Given the description of an element on the screen output the (x, y) to click on. 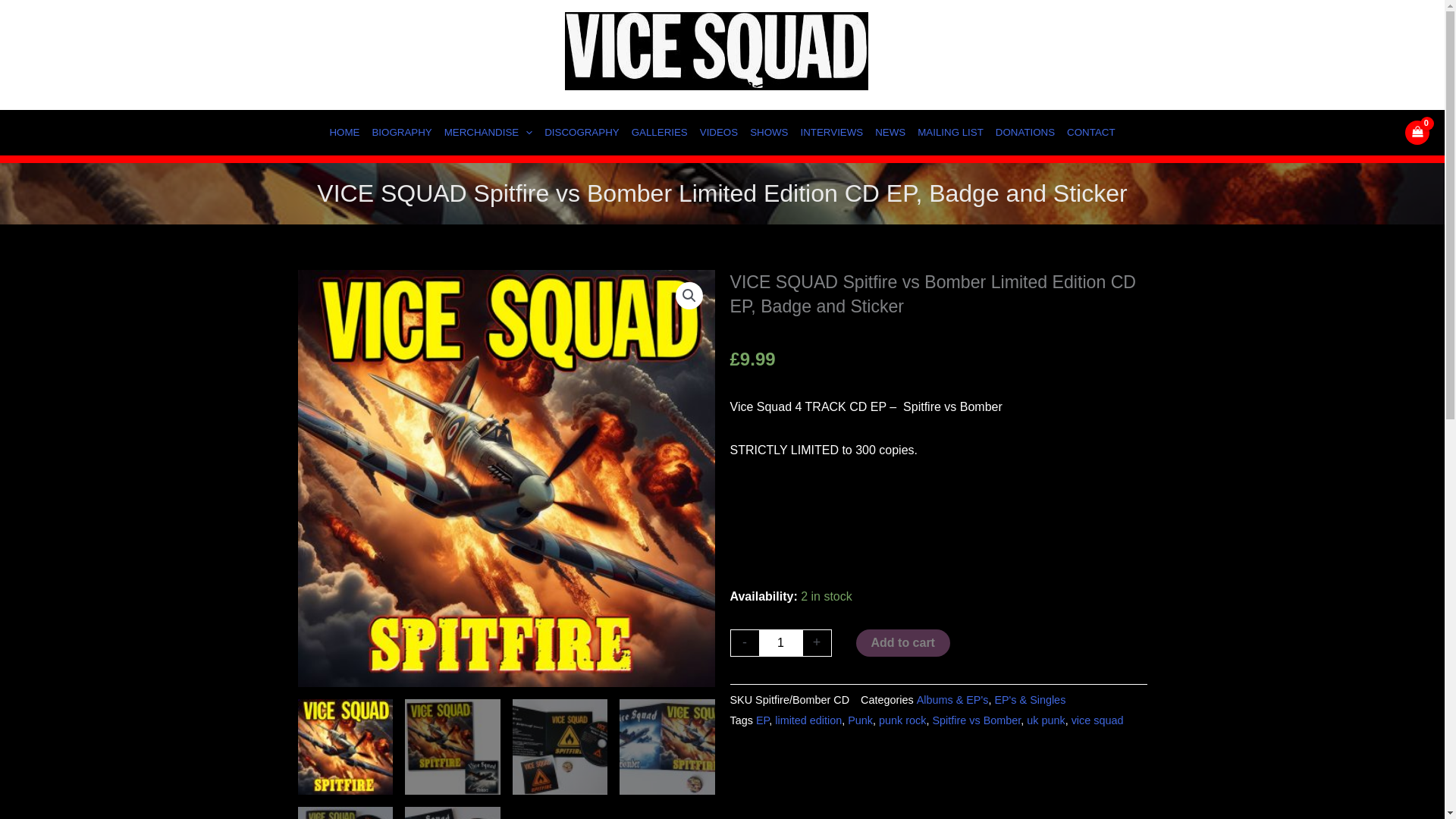
INTERVIEWS (831, 132)
VIDEOS (719, 132)
NEWS (890, 132)
GALLERIES (660, 132)
DISCOGRAPHY (582, 132)
HOME (344, 132)
SHOWS (768, 132)
1 (780, 642)
BIOGRAPHY (401, 132)
